Given the description of an element on the screen output the (x, y) to click on. 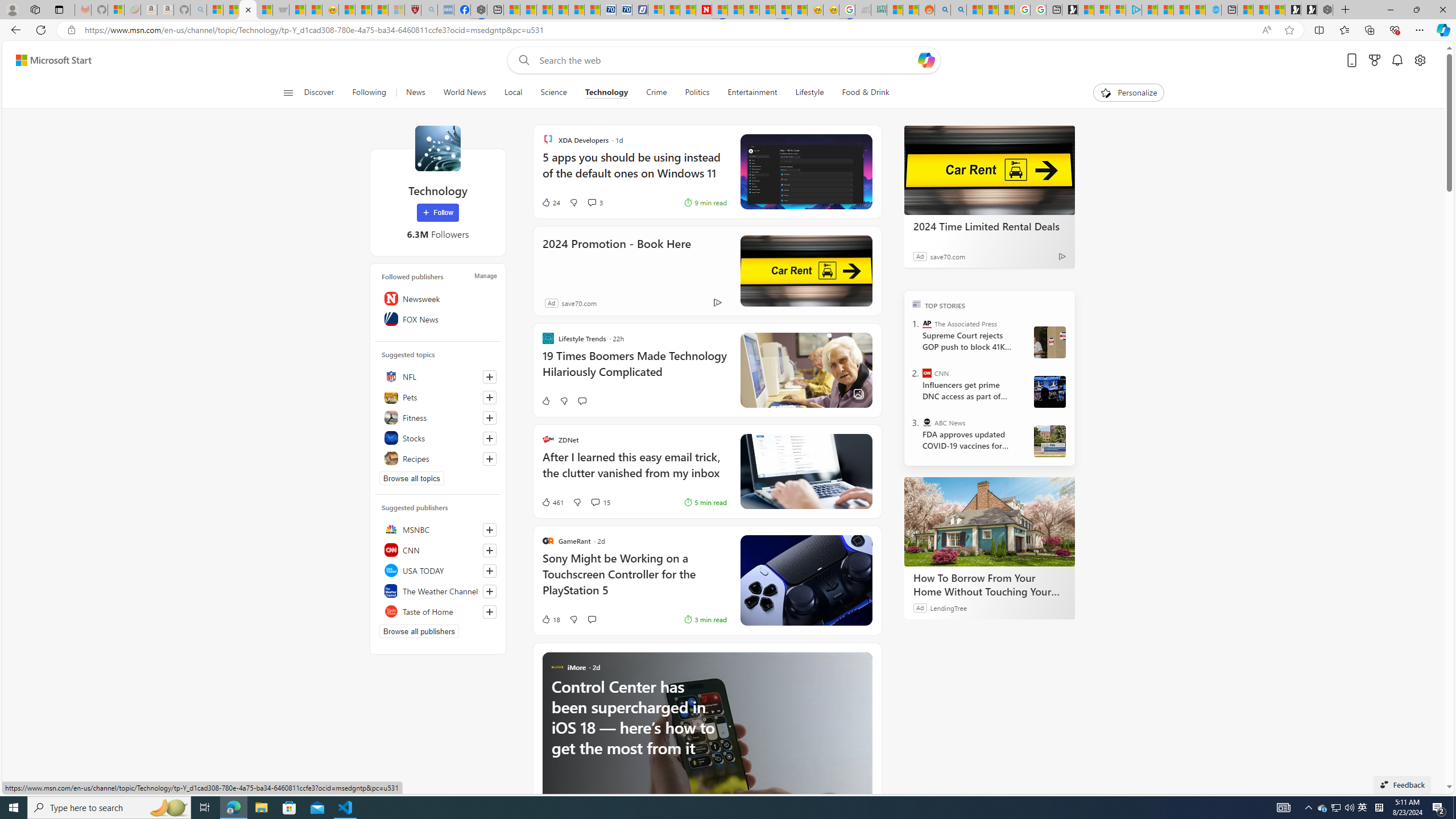
View comments 3 Comment (594, 202)
2024 Promotion - Book HereAdsave70.com (707, 271)
TOP (916, 302)
The Weather Channel (437, 590)
